Given the description of an element on the screen output the (x, y) to click on. 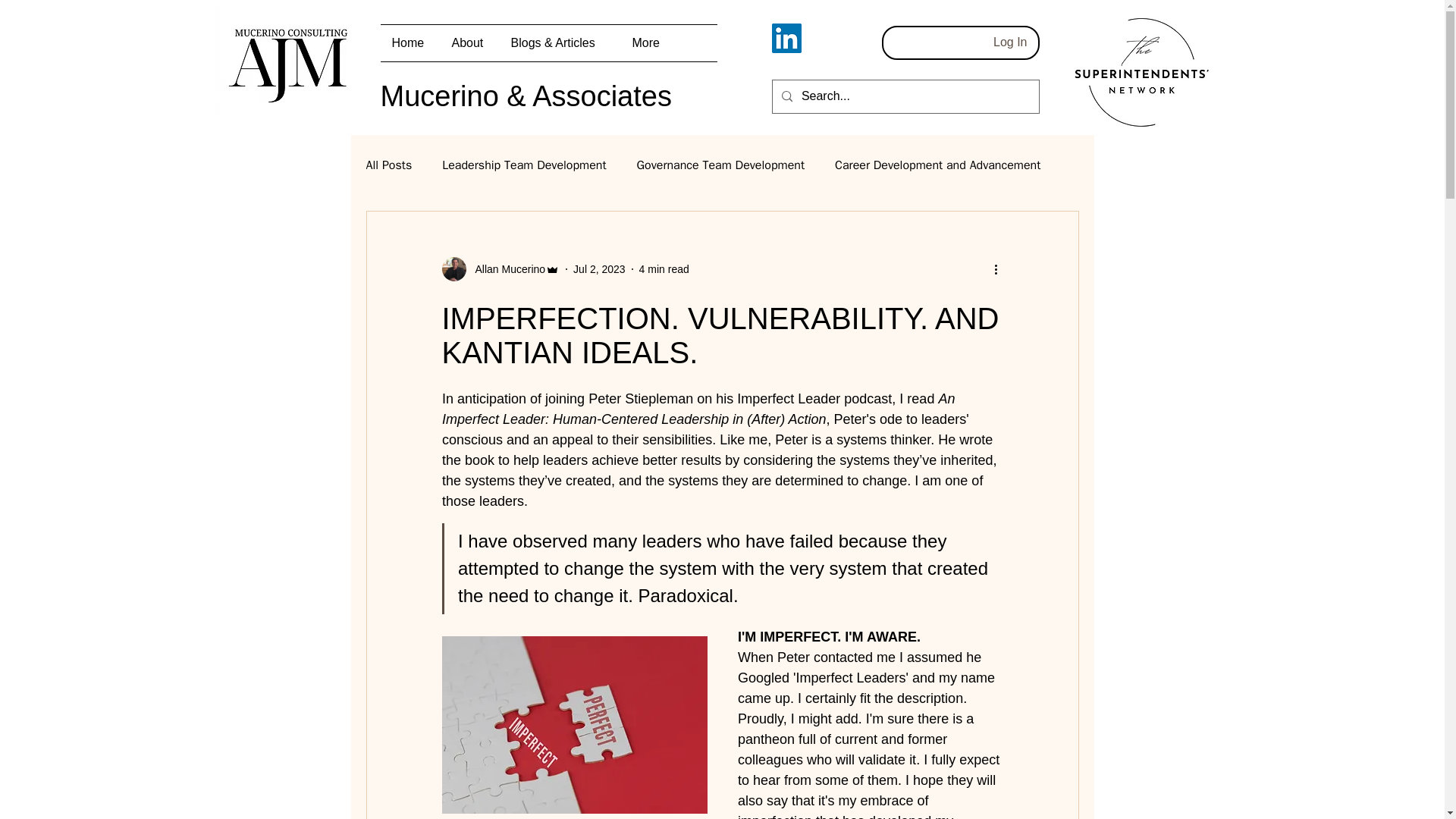
About (469, 43)
Allan Mucerino (500, 269)
2.png (290, 61)
Home (410, 43)
Governance Team Development (721, 165)
Jul 2, 2023 (599, 268)
Log In (1009, 42)
Leadership Team Development (523, 165)
2.png (1141, 72)
Career Development and Advancement (937, 165)
All Posts (388, 165)
Allan Mucerino (504, 268)
4 min read (663, 268)
